Given the description of an element on the screen output the (x, y) to click on. 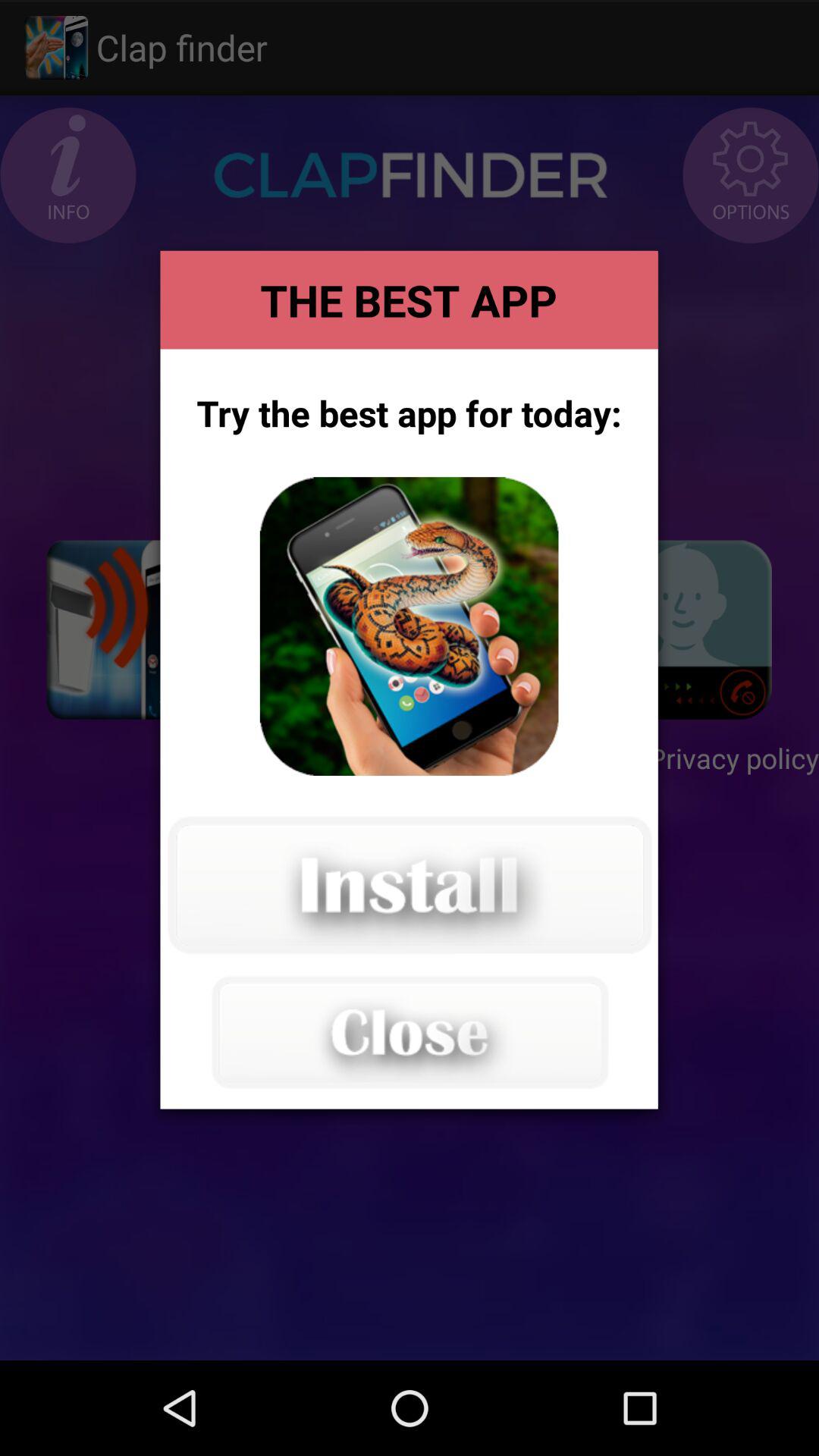
install the app (409, 884)
